Given the description of an element on the screen output the (x, y) to click on. 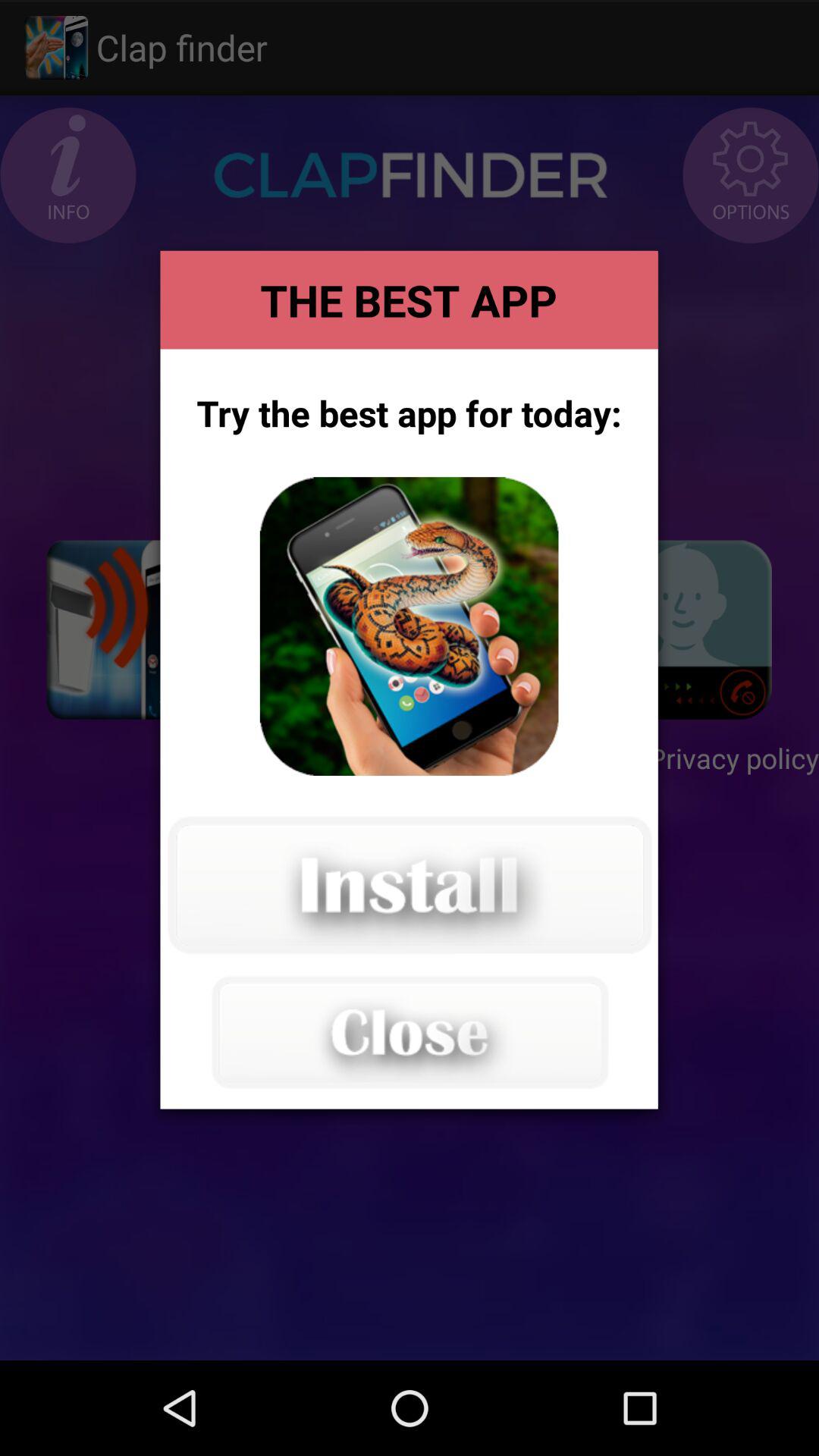
install the app (409, 884)
